Given the description of an element on the screen output the (x, y) to click on. 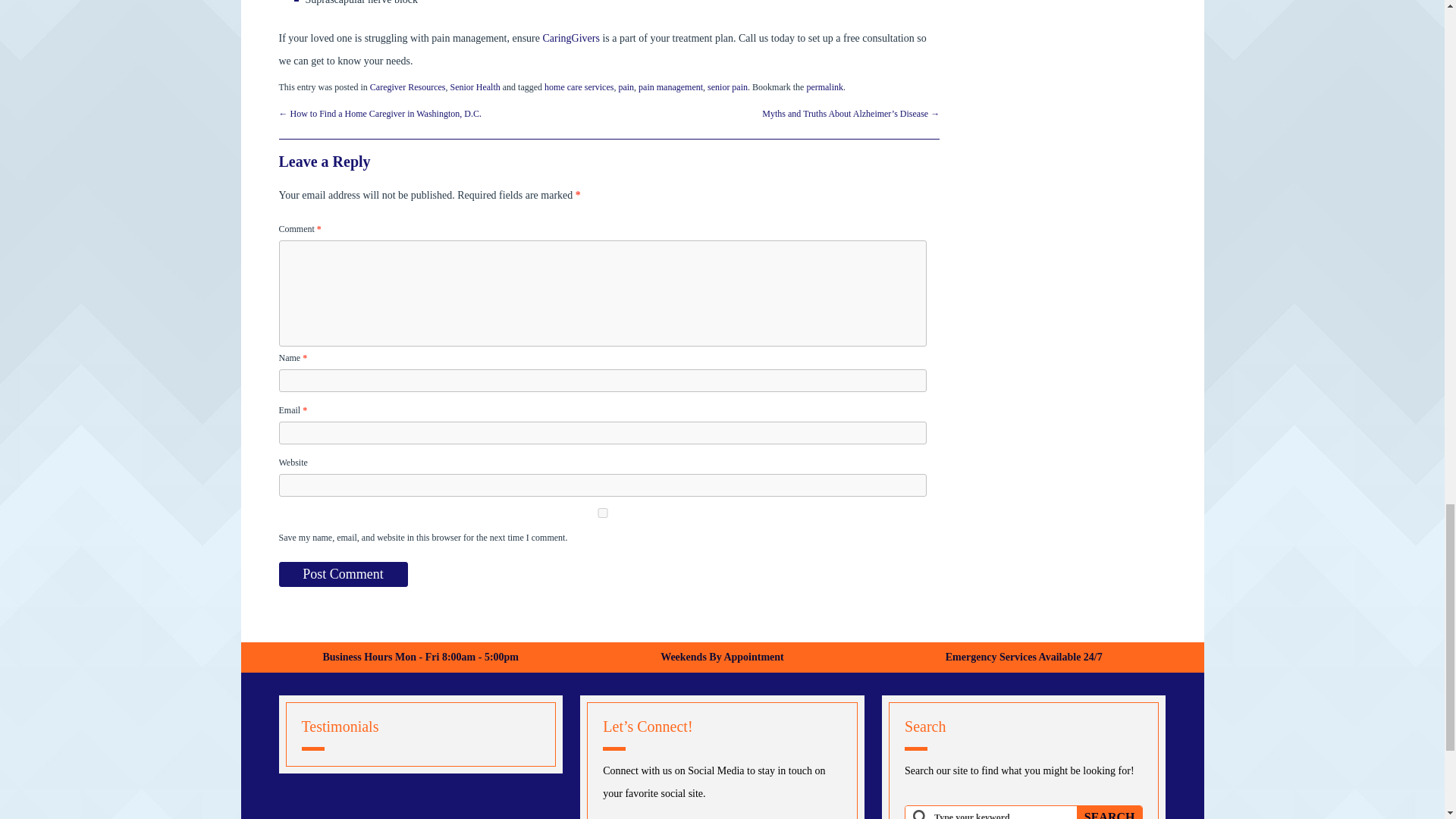
Permalink to Pain Management in Older Adults (824, 86)
CaringGivers (569, 38)
permalink (824, 86)
yes (602, 512)
Post Comment (343, 574)
pain management (671, 86)
Post Comment (343, 574)
Caregiver Resources (407, 86)
pain (625, 86)
home care services (578, 86)
Search (1109, 812)
Senior Health (474, 86)
senior pain (727, 86)
